Given the description of an element on the screen output the (x, y) to click on. 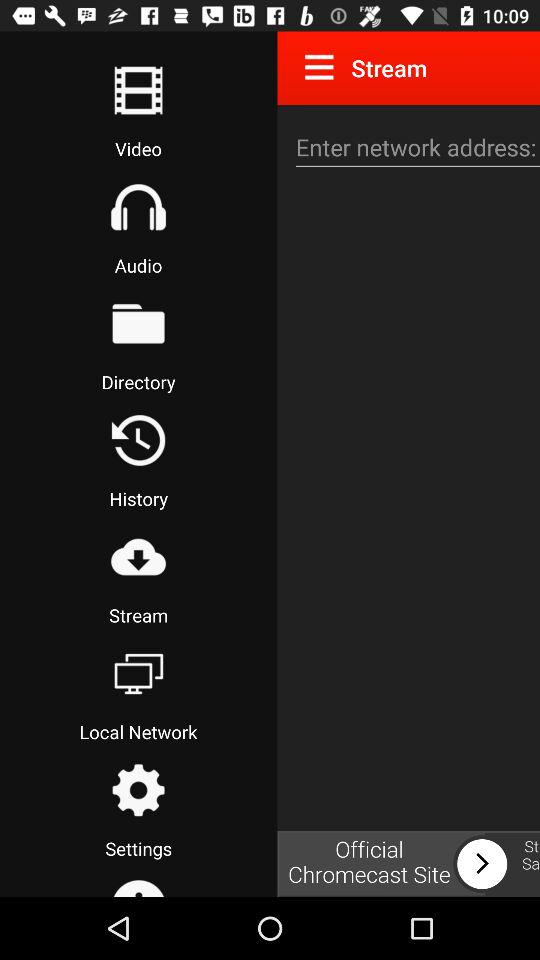
go to file directory (138, 323)
